Given the description of an element on the screen output the (x, y) to click on. 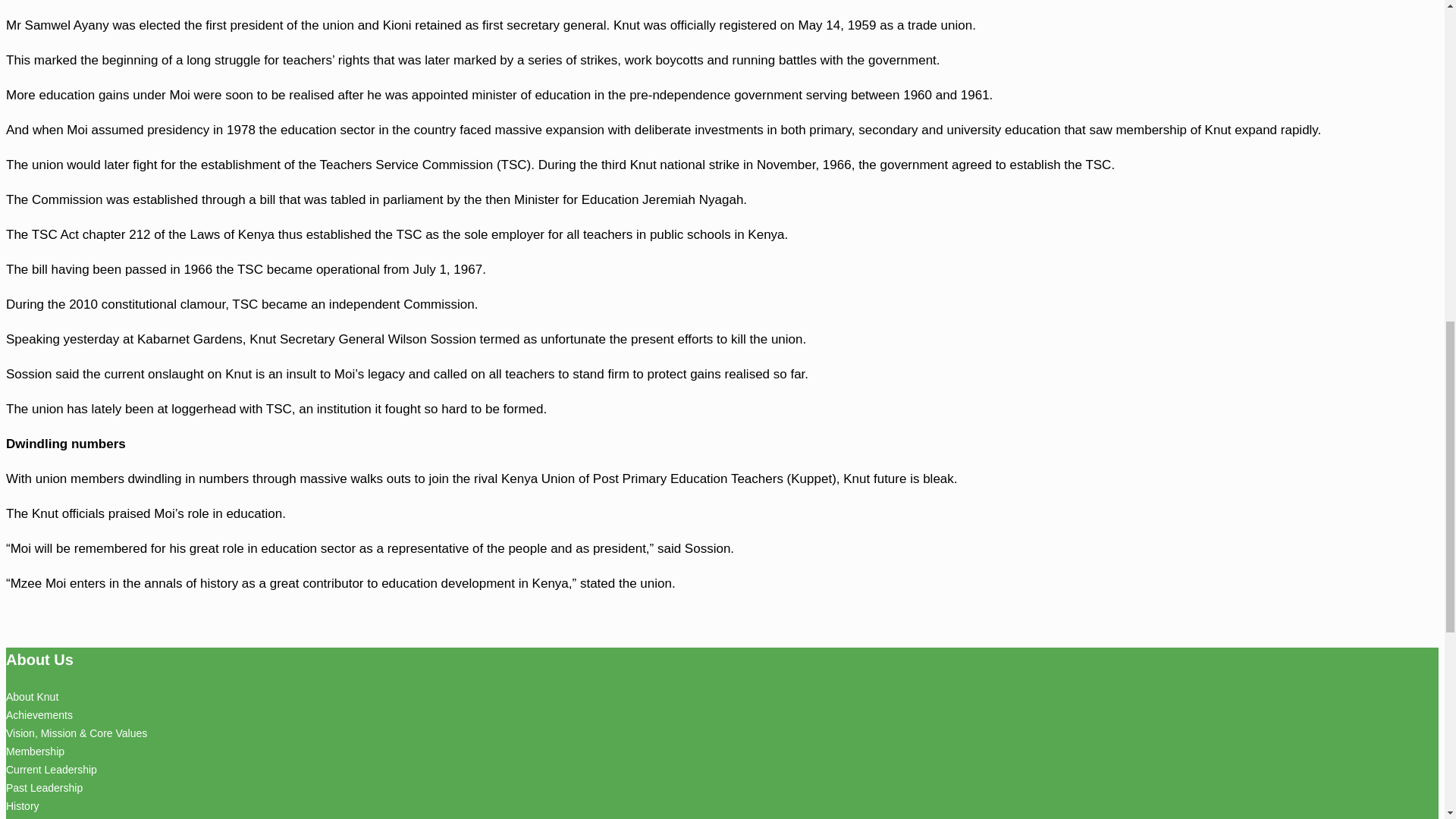
About Knut (31, 696)
Membership (34, 751)
Achievements (38, 715)
Current Leadership (51, 769)
History (22, 806)
Past Leadership (43, 787)
